Given the description of an element on the screen output the (x, y) to click on. 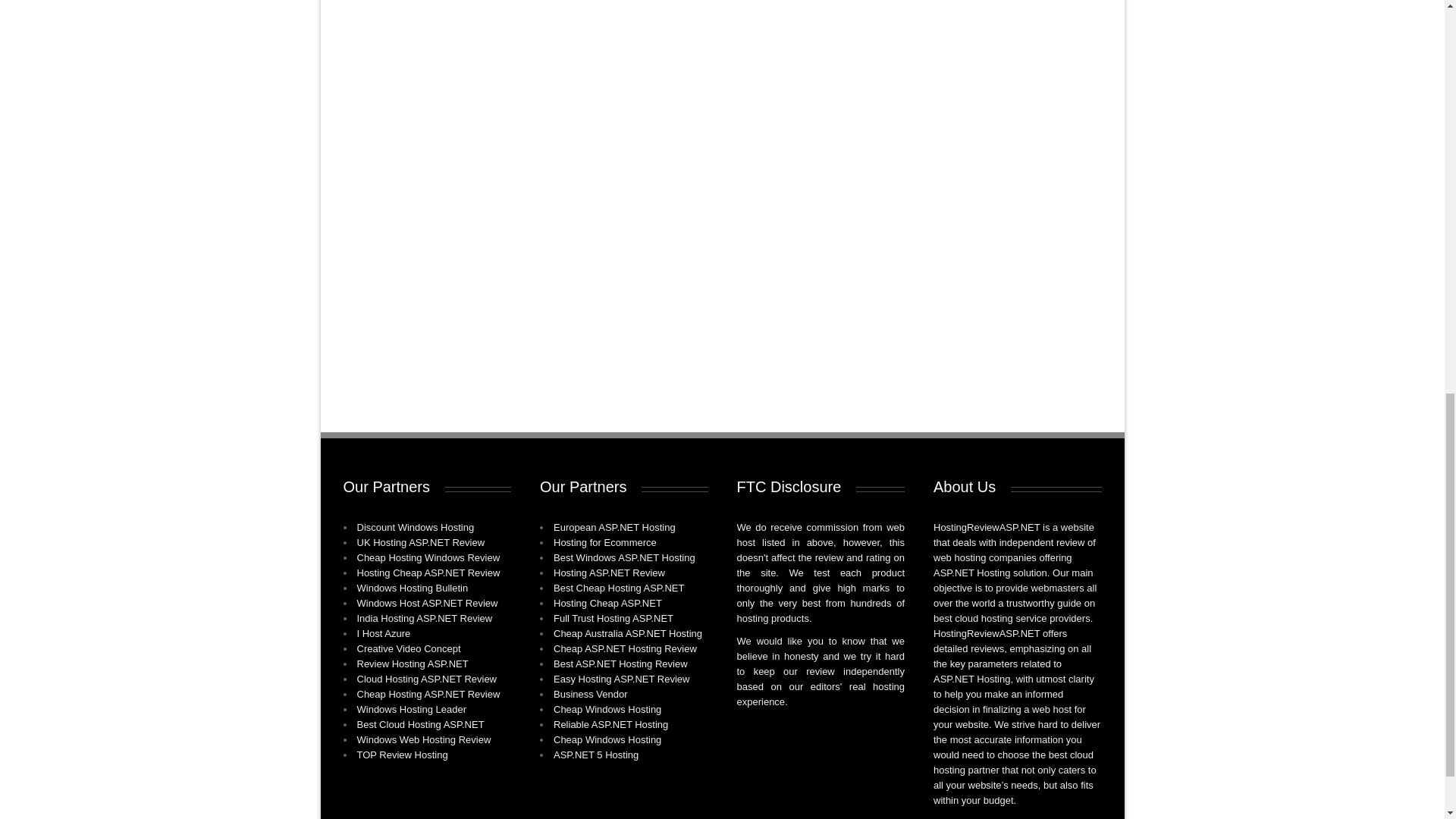
Windows Hosting Bulletin (411, 587)
Discount Windows Hosting (415, 527)
UK Hosting ASP.NET Review (420, 542)
Cheap Hosting Windows Review (427, 557)
Hosting Cheap ASP.NET Review (427, 572)
